Given the description of an element on the screen output the (x, y) to click on. 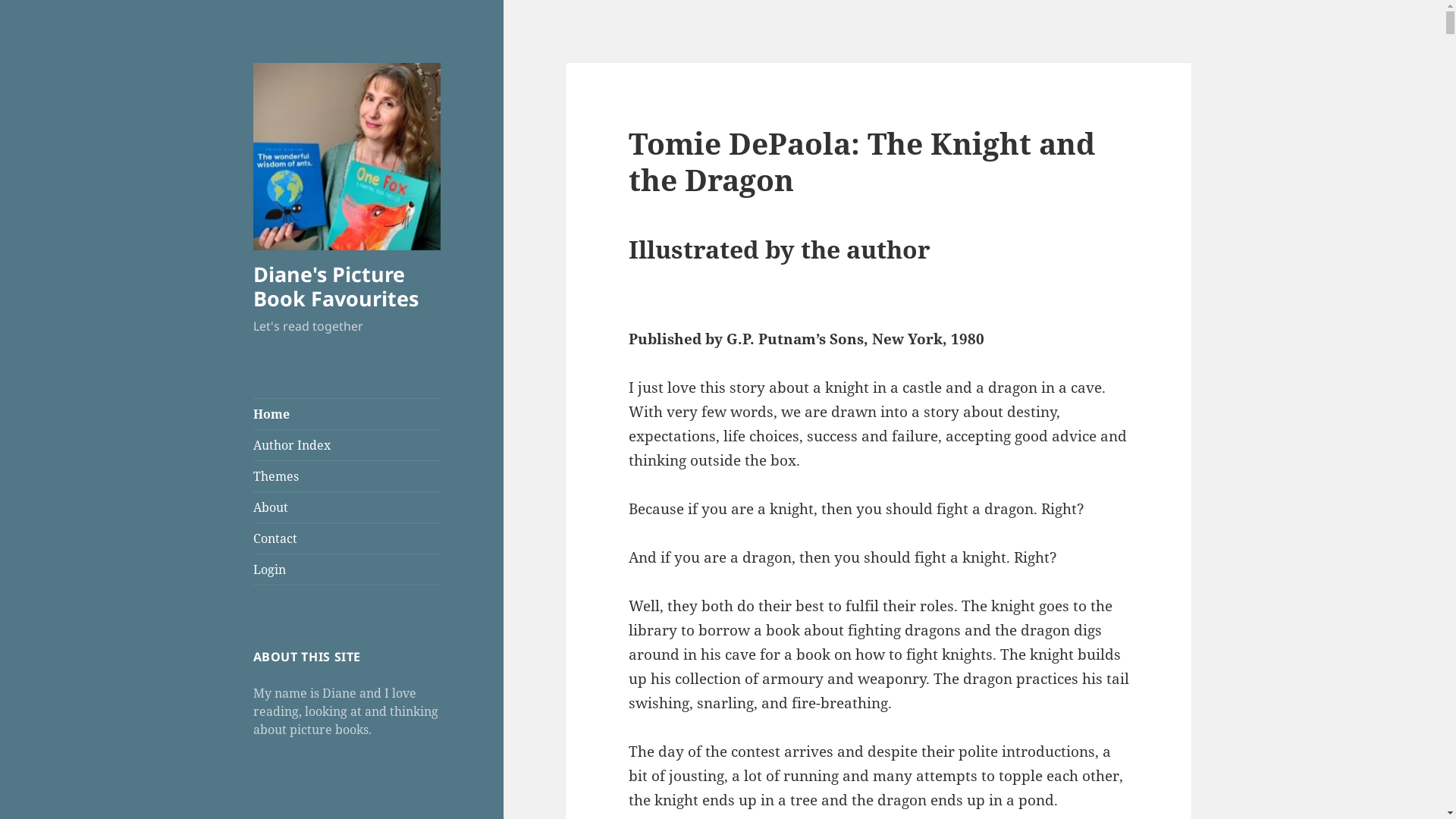
About Element type: text (347, 507)
Author Index Element type: text (347, 444)
Diane's Picture Book Favourites Element type: text (335, 286)
Login Element type: text (347, 569)
Contact Element type: text (347, 538)
Tomie DePaola: The Knight and the Dragon Element type: text (861, 160)
Home Element type: text (347, 413)
Themes Element type: text (347, 476)
